Given the description of an element on the screen output the (x, y) to click on. 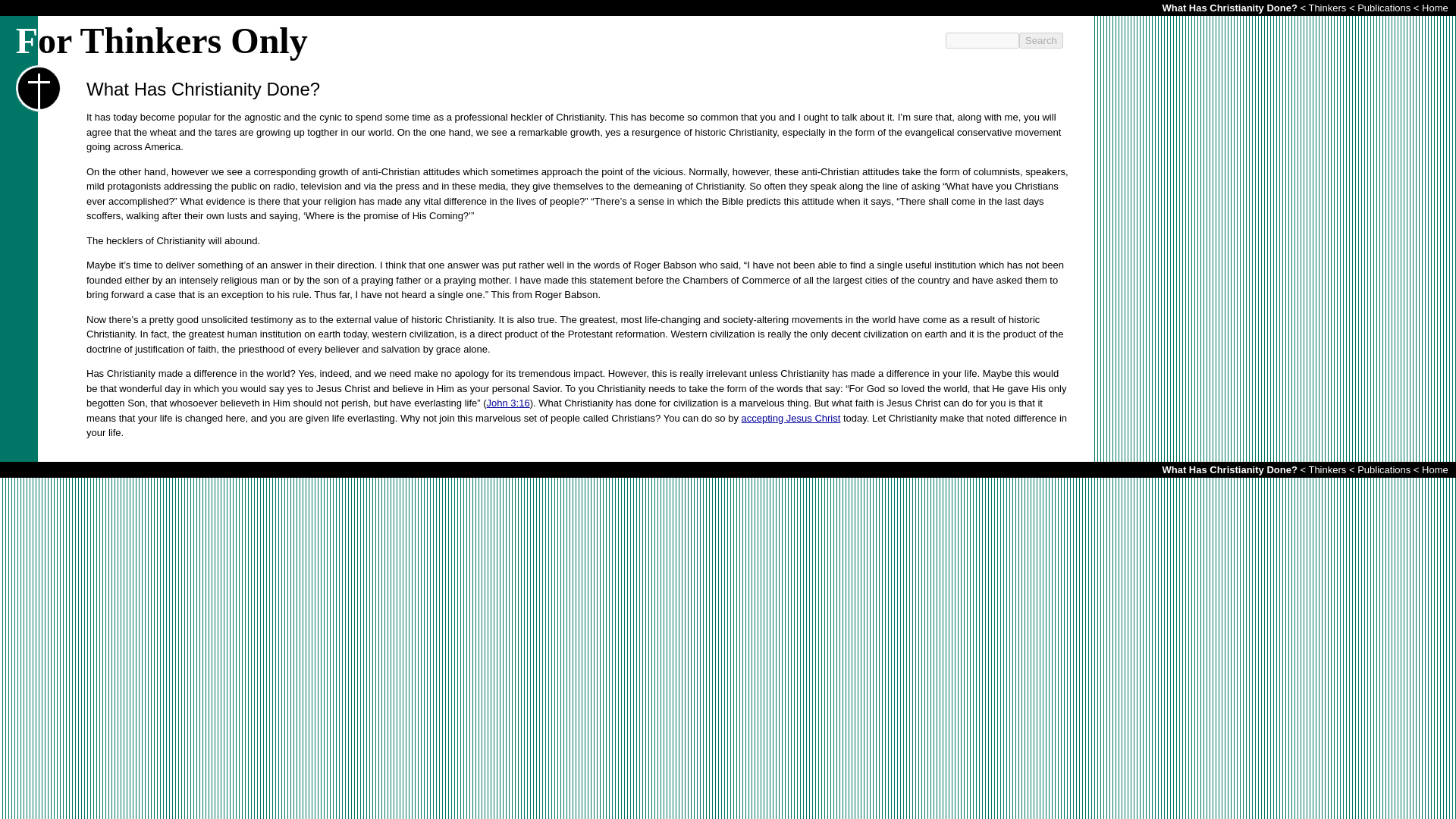
Publications (1383, 7)
Thinkers (1326, 469)
Home (1435, 7)
Thinkers (1326, 7)
Home (1435, 469)
John 3:16 (507, 402)
Publications (1383, 469)
accepting Jesus Christ (791, 418)
Search (1040, 40)
